Given the description of an element on the screen output the (x, y) to click on. 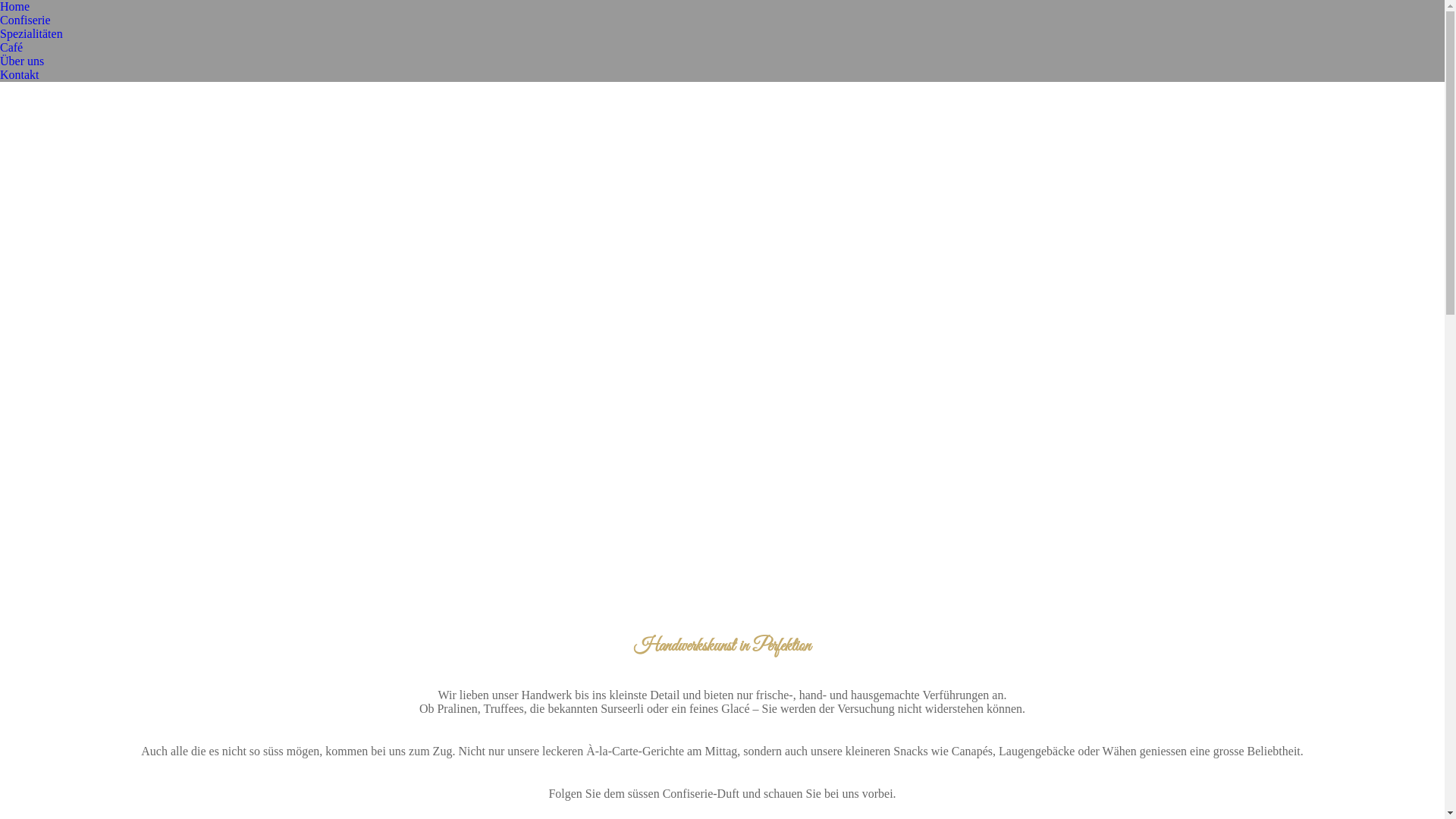
Confiserie Element type: text (25, 20)
Home Element type: text (14, 6)
Kontakt Element type: text (19, 74)
